Given the description of an element on the screen output the (x, y) to click on. 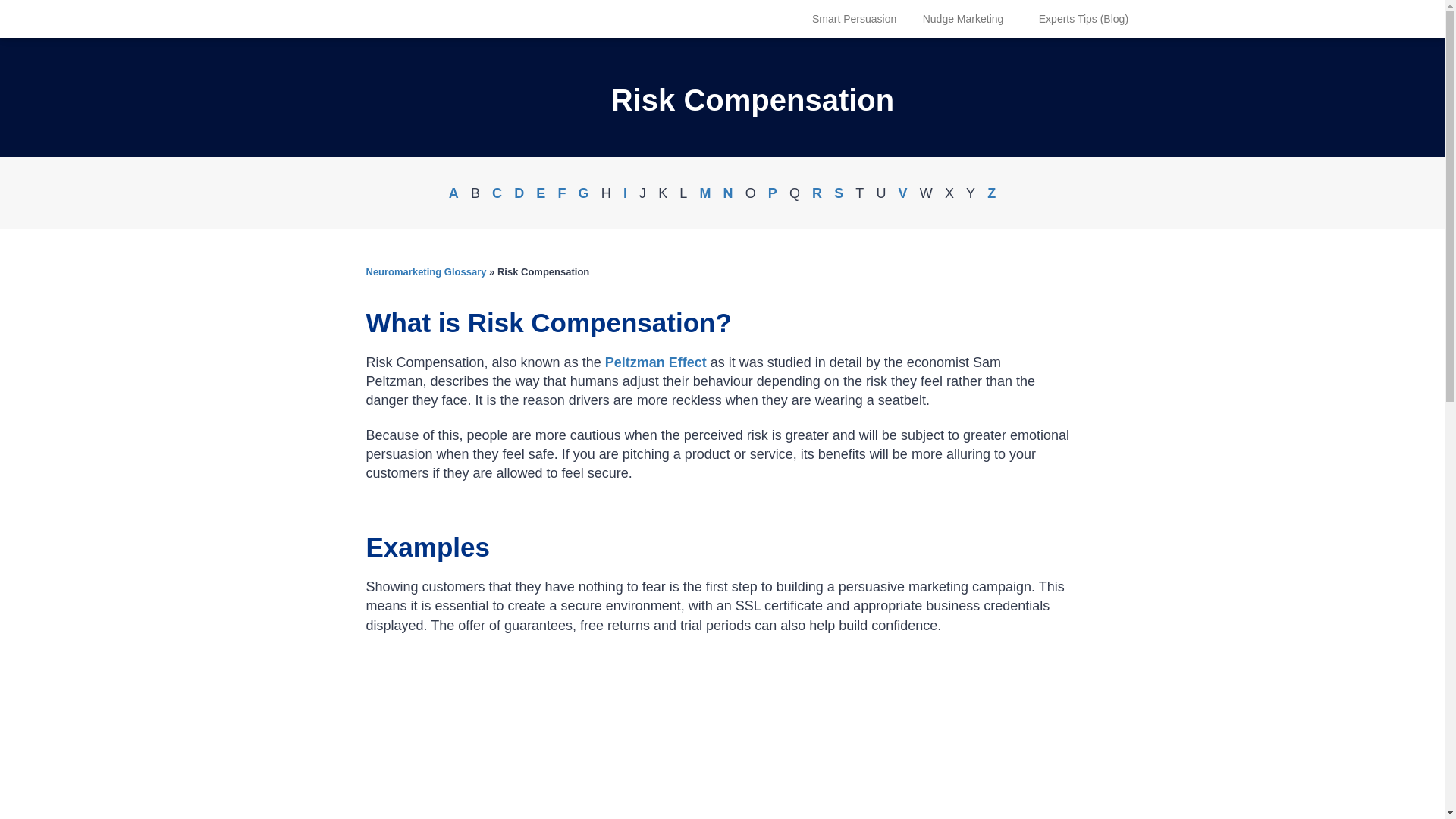
Smart Persuasion (853, 19)
Neuromarketing Glossary (425, 271)
Nudge Marketing (962, 19)
Peltzman Effect (655, 362)
CONVERTIZE (356, 25)
